Given the description of an element on the screen output the (x, y) to click on. 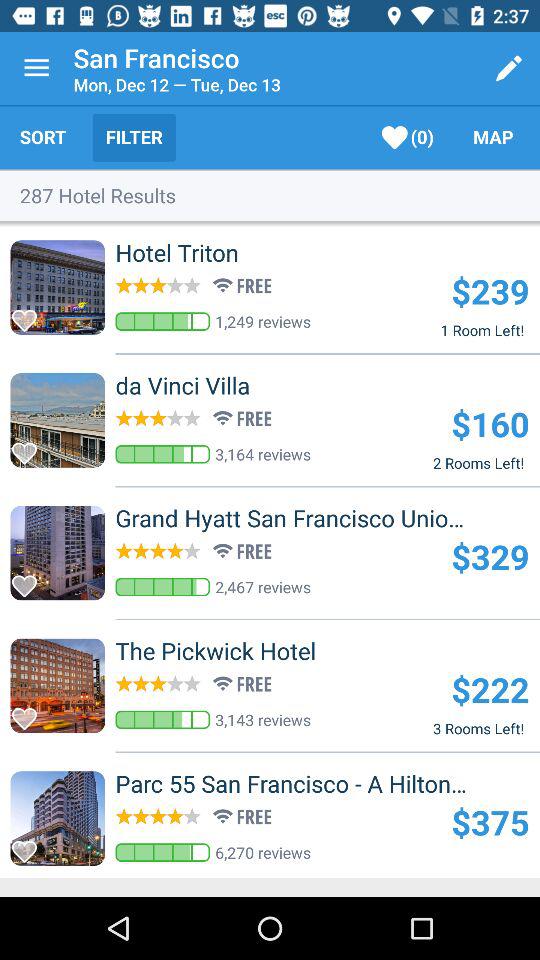
favorite box (30, 713)
